Given the description of an element on the screen output the (x, y) to click on. 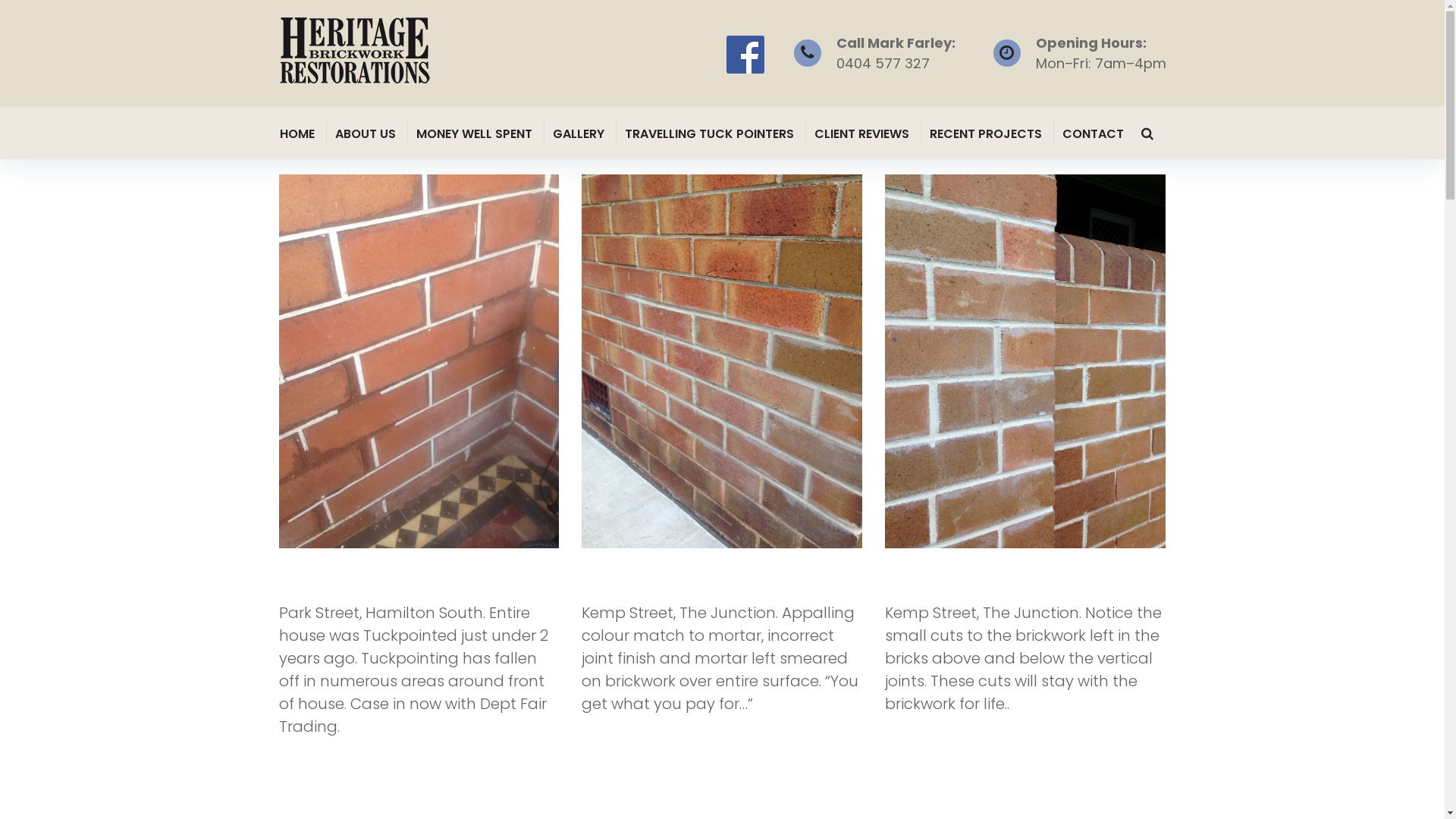
CLIENT REVIEWS Element type: text (862, 132)
RECENT PROJECTS Element type: text (987, 132)
HOME Element type: text (297, 132)
Skip to content Element type: text (0, 0)
CONTACT Element type: text (1093, 132)
TRAVELLING TUCK POINTERS Element type: text (710, 132)
GALLERY Element type: text (579, 132)
ABOUT US Element type: text (366, 132)
MONEY WELL SPENT Element type: text (475, 132)
